Given the description of an element on the screen output the (x, y) to click on. 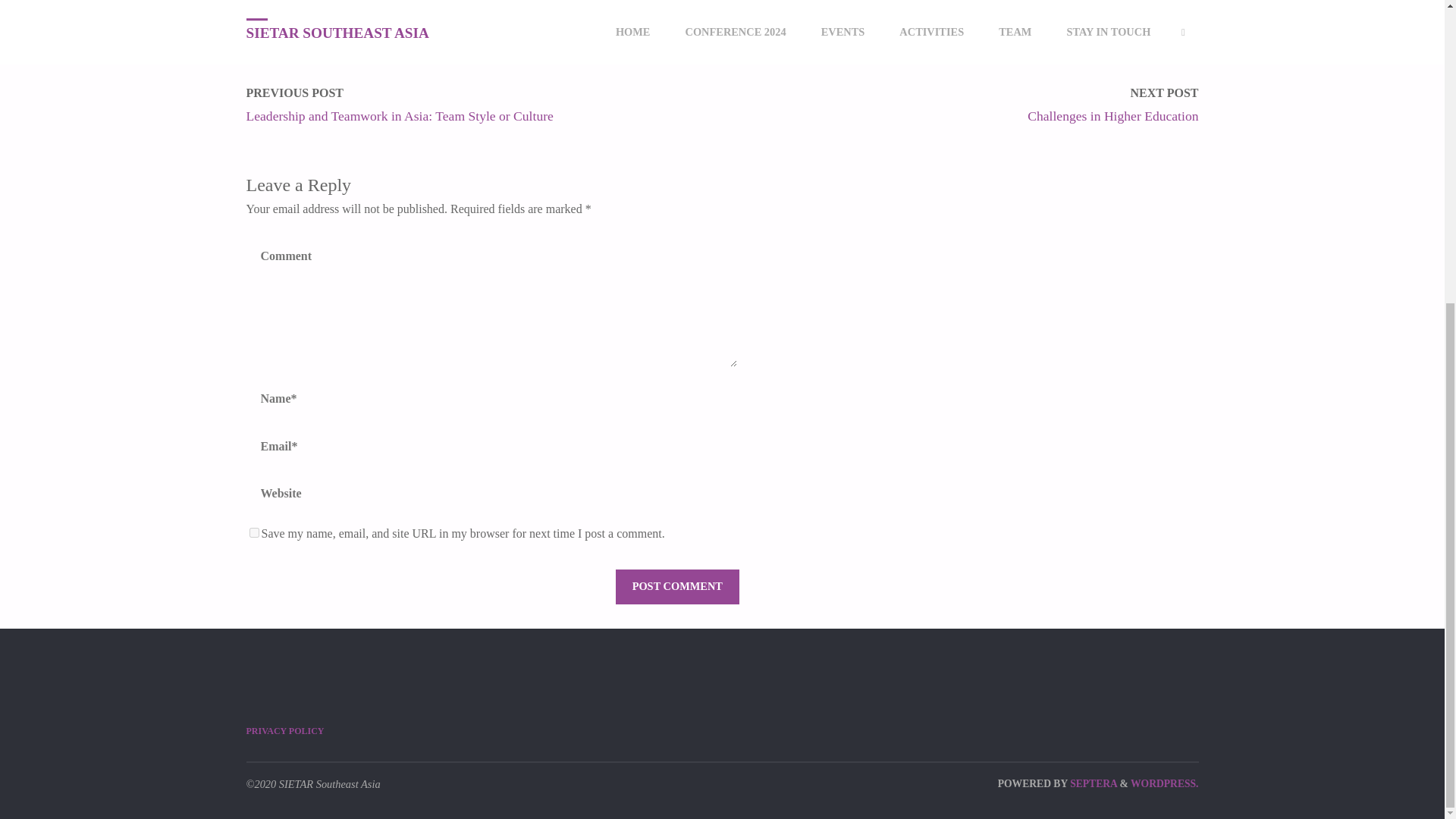
Semantic Personal Publishing Platform (1164, 783)
Leadership and Teamwork in Asia: Team Style or Culture (399, 115)
Post Comment (676, 586)
PRIVACY POLICY (284, 730)
Challenges in Higher Education (1112, 115)
WORDPRESS. (1164, 783)
yes (253, 532)
Septera WordPress Theme by Cryout Creations (1091, 783)
SEPTERA (1091, 783)
Post Comment (676, 586)
